Given the description of an element on the screen output the (x, y) to click on. 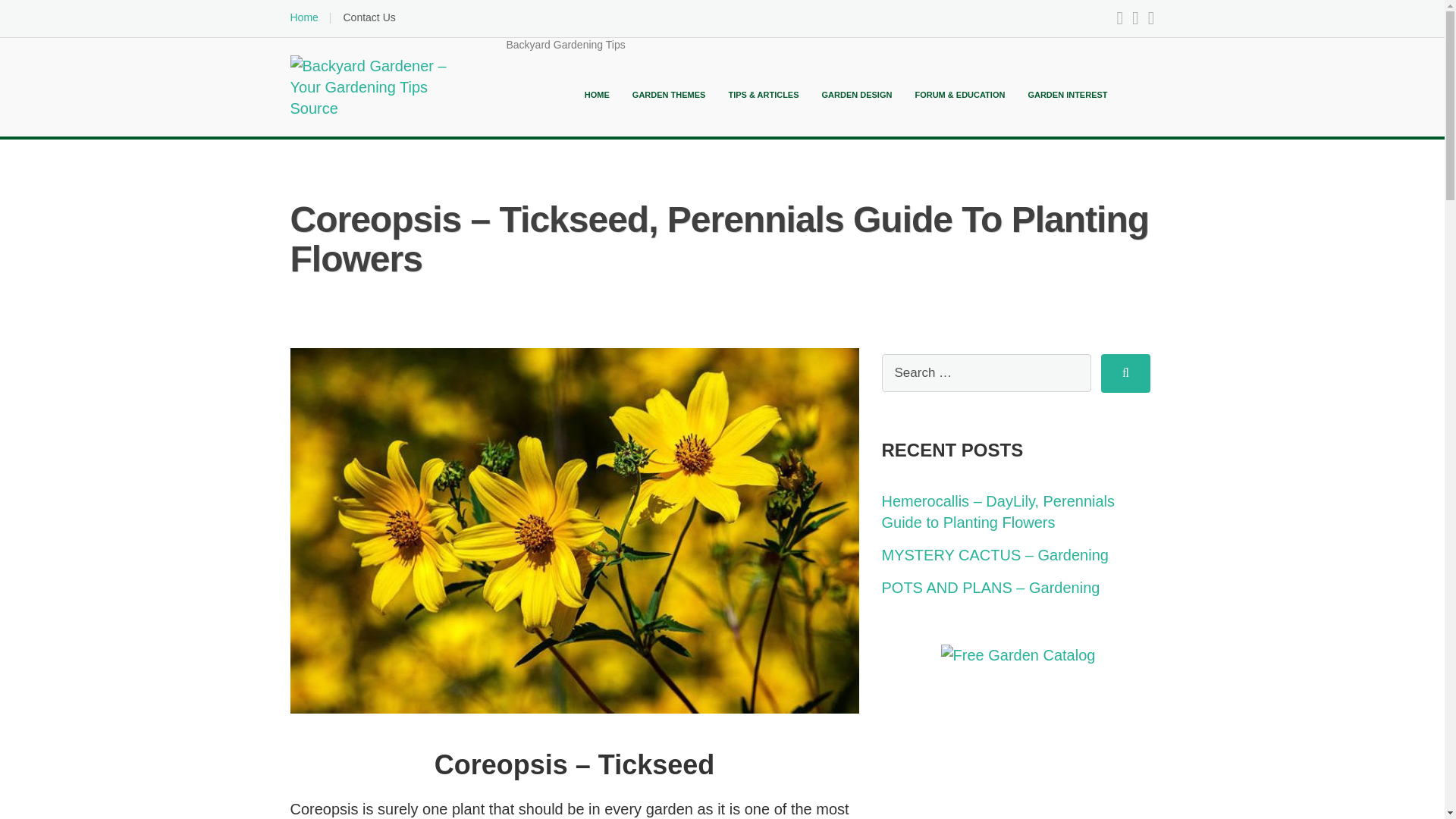
Contact Us (368, 17)
GARDEN DESIGN (857, 94)
Home (303, 17)
Search for: (985, 372)
HOME (597, 94)
GARDEN THEMES (668, 94)
